Given the description of an element on the screen output the (x, y) to click on. 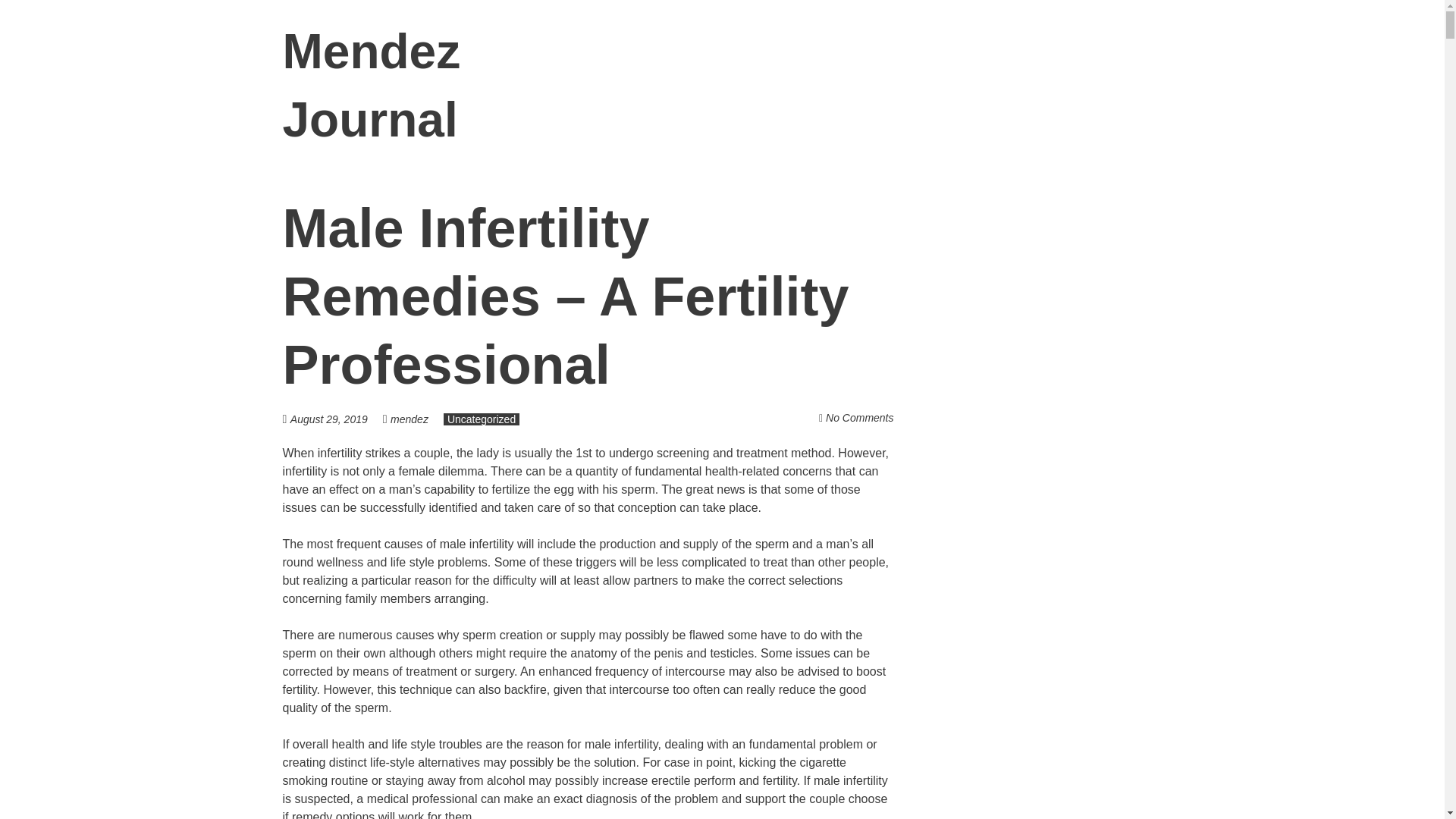
Skip to content (1181, 52)
mendez (409, 419)
Uncategorized (481, 419)
Mendez Journal (371, 85)
Skip to content (1181, 52)
August 29, 2019 (335, 418)
No Comments (859, 417)
